Given the description of an element on the screen output the (x, y) to click on. 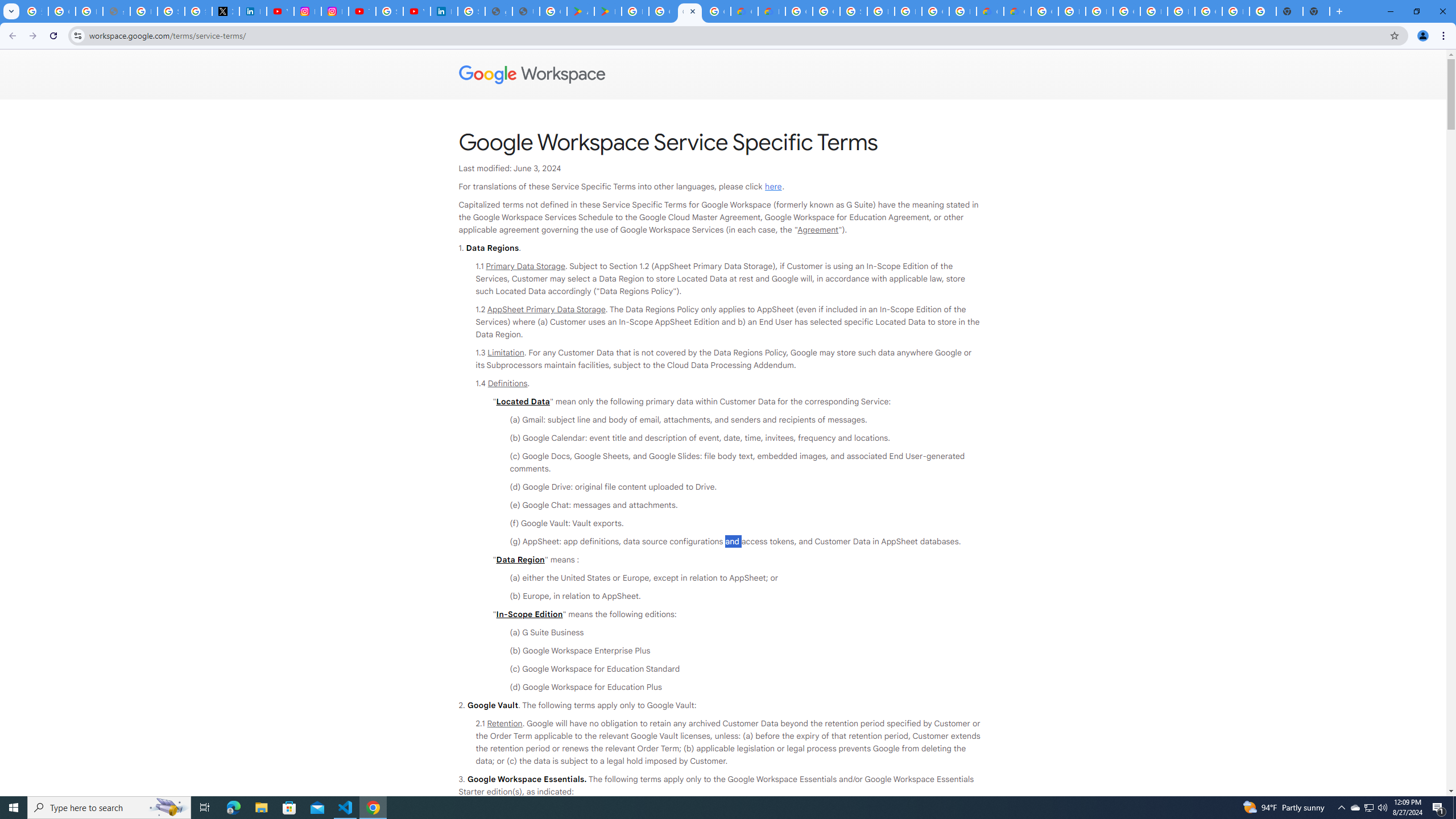
User Details (525, 11)
Identity verification via Persona | LinkedIn Help (444, 11)
Google Cloud Platform (1208, 11)
Google Workspace (723, 74)
Privacy Help Center - Policies Help (144, 11)
Google Cloud Platform (799, 11)
